Given the description of an element on the screen output the (x, y) to click on. 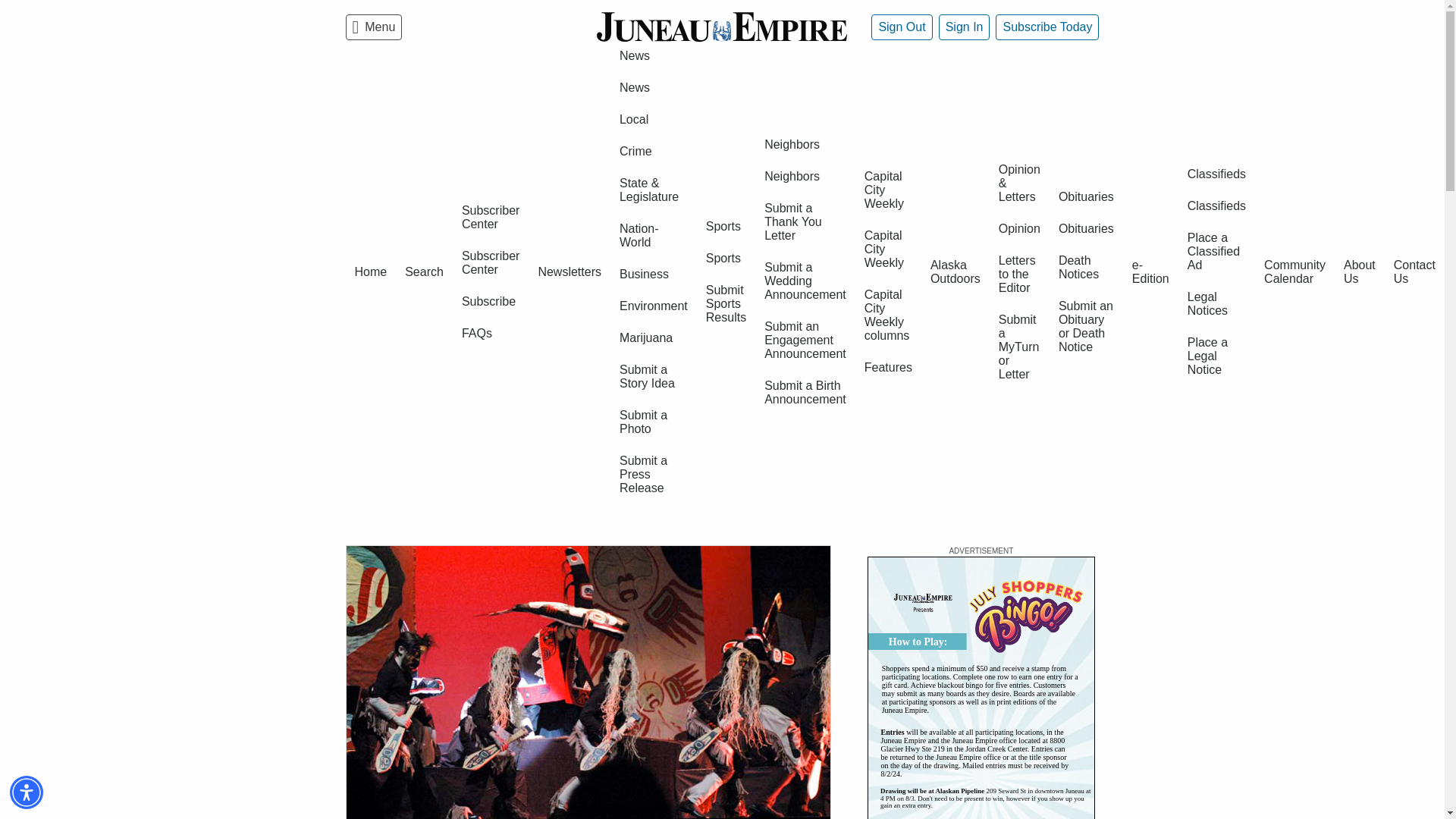
Accessibility Menu (26, 792)
